Given the description of an element on the screen output the (x, y) to click on. 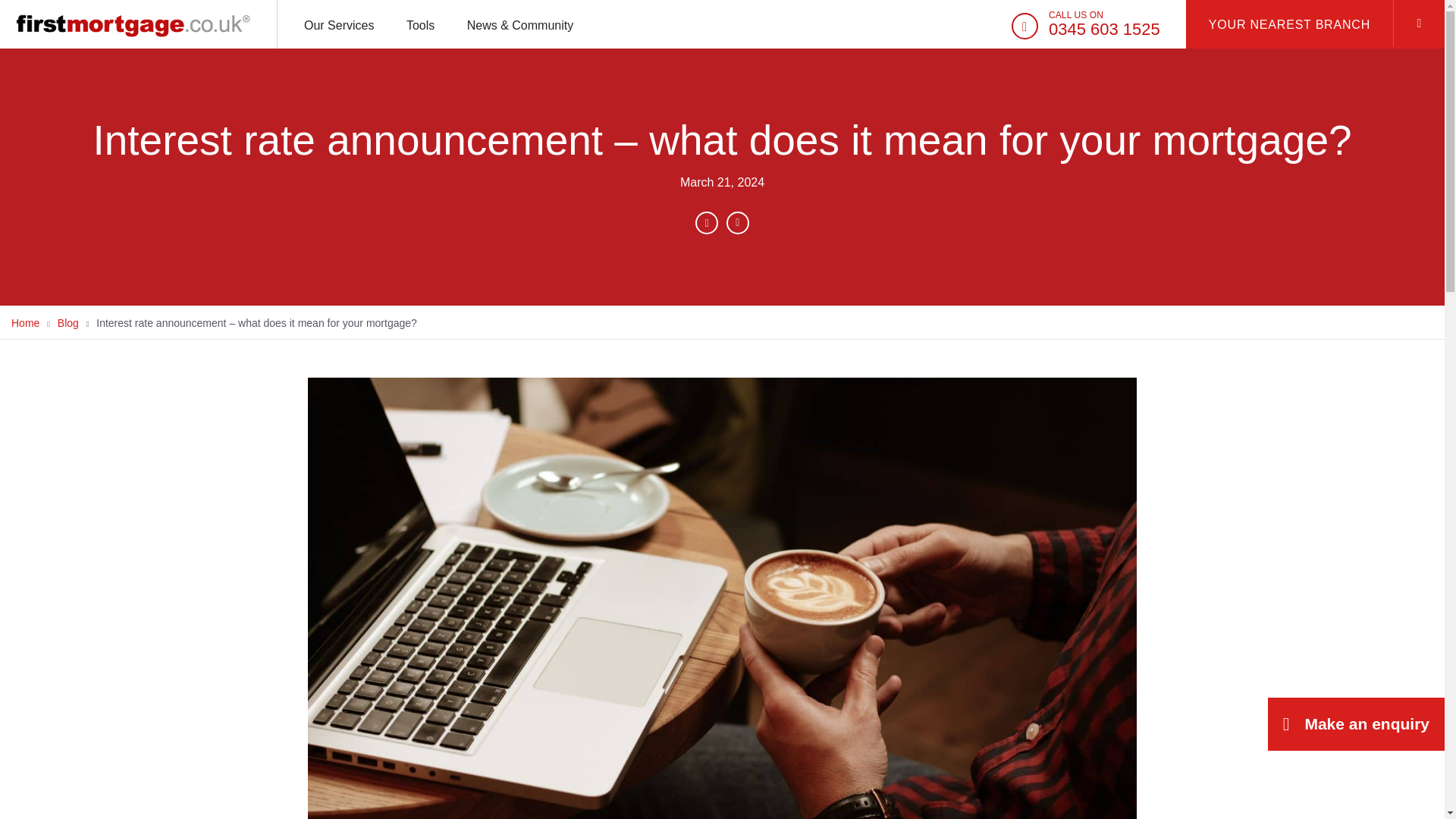
Our Services (338, 24)
Tools (1085, 30)
